Given the description of an element on the screen output the (x, y) to click on. 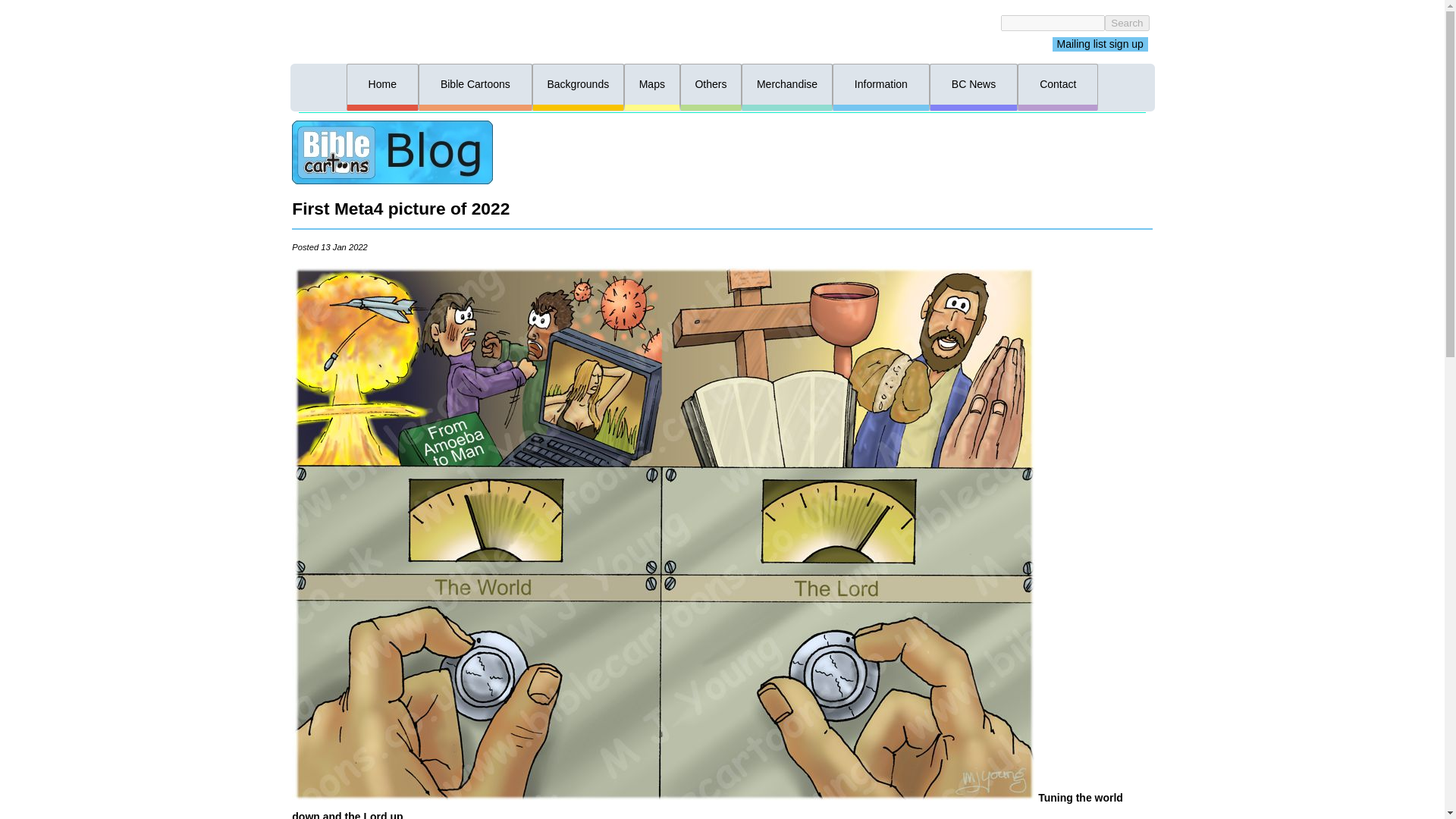
Mailing list sign up (1100, 44)
Search (263, 41)
Bible Cartoons (475, 84)
Maps (652, 84)
Search (1126, 23)
Search (1126, 23)
Backgrounds (577, 84)
Others (710, 84)
Home (382, 84)
